Given the description of an element on the screen output the (x, y) to click on. 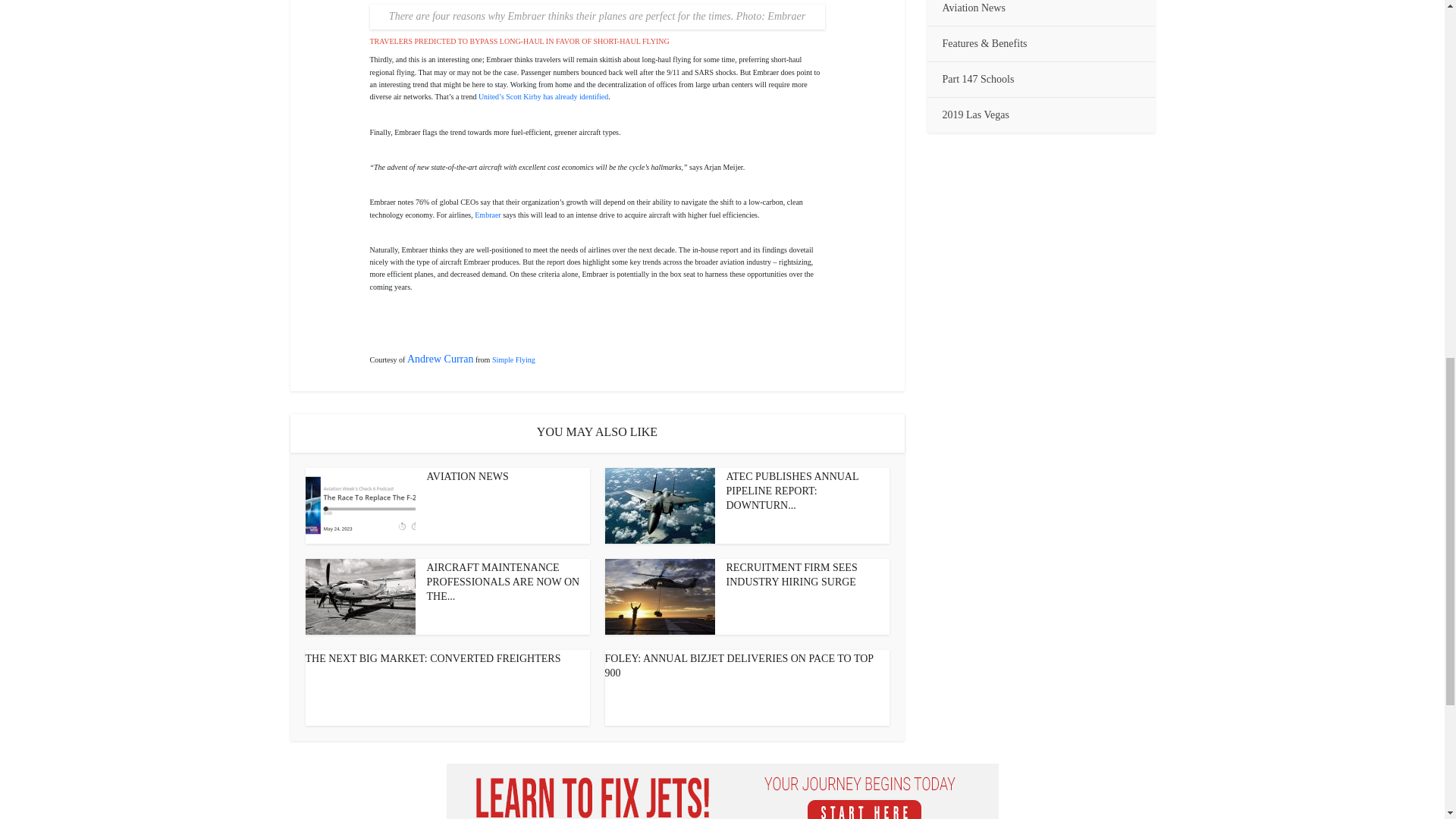
The Next Big Market: Converted Freighters (432, 658)
Foley: Annual Bizjet Deliveries On Pace To Top 900 (739, 665)
View all posts by Andrew Curran (440, 358)
Recruitment Firm Sees Industry Hiring Surge (791, 574)
Aviation News (467, 476)
